Given the description of an element on the screen output the (x, y) to click on. 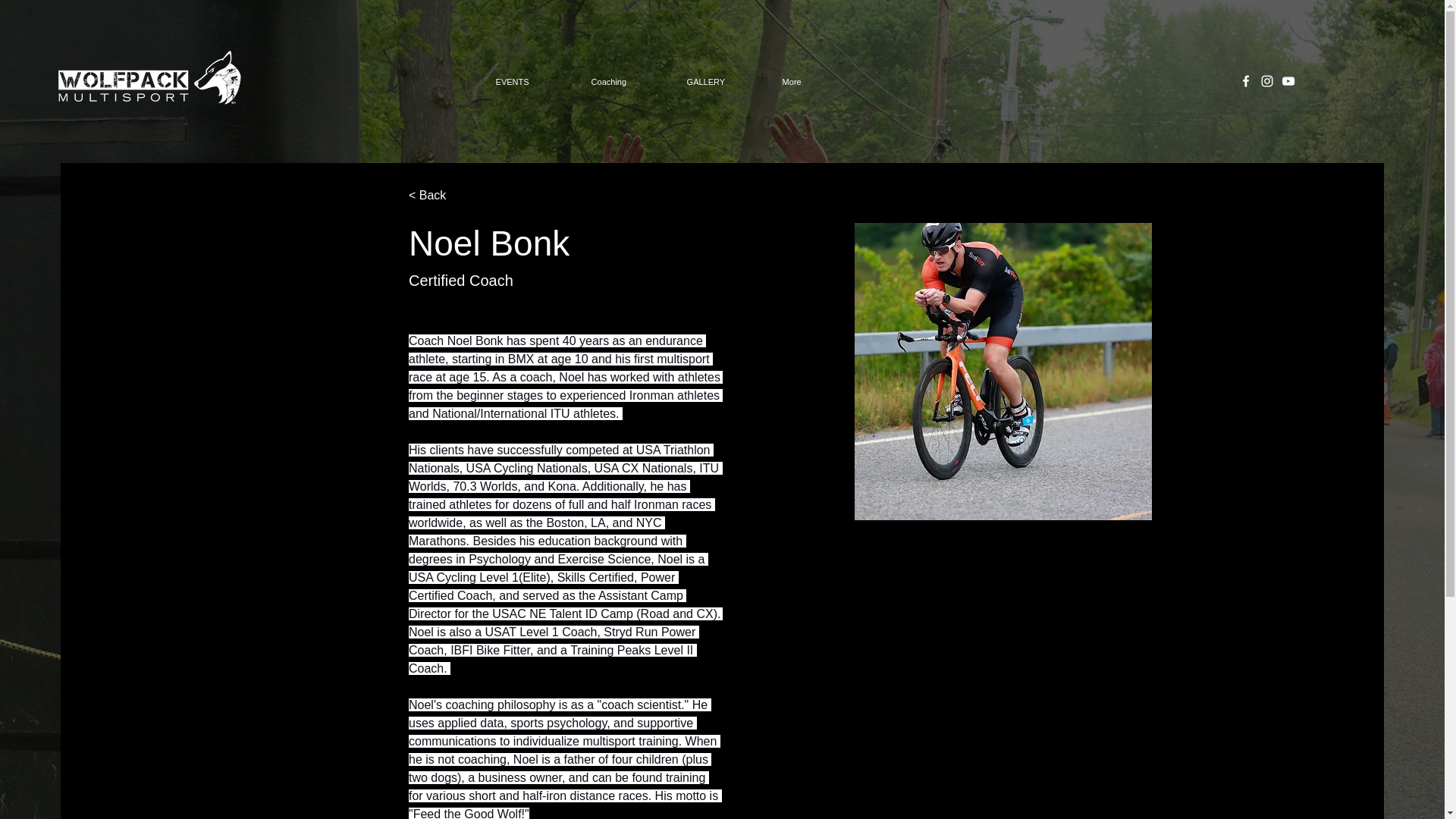
Coaching (627, 81)
GALLERY (723, 81)
EVENTS (531, 81)
Pete-1309.jpeg (1002, 371)
